Given the description of an element on the screen output the (x, y) to click on. 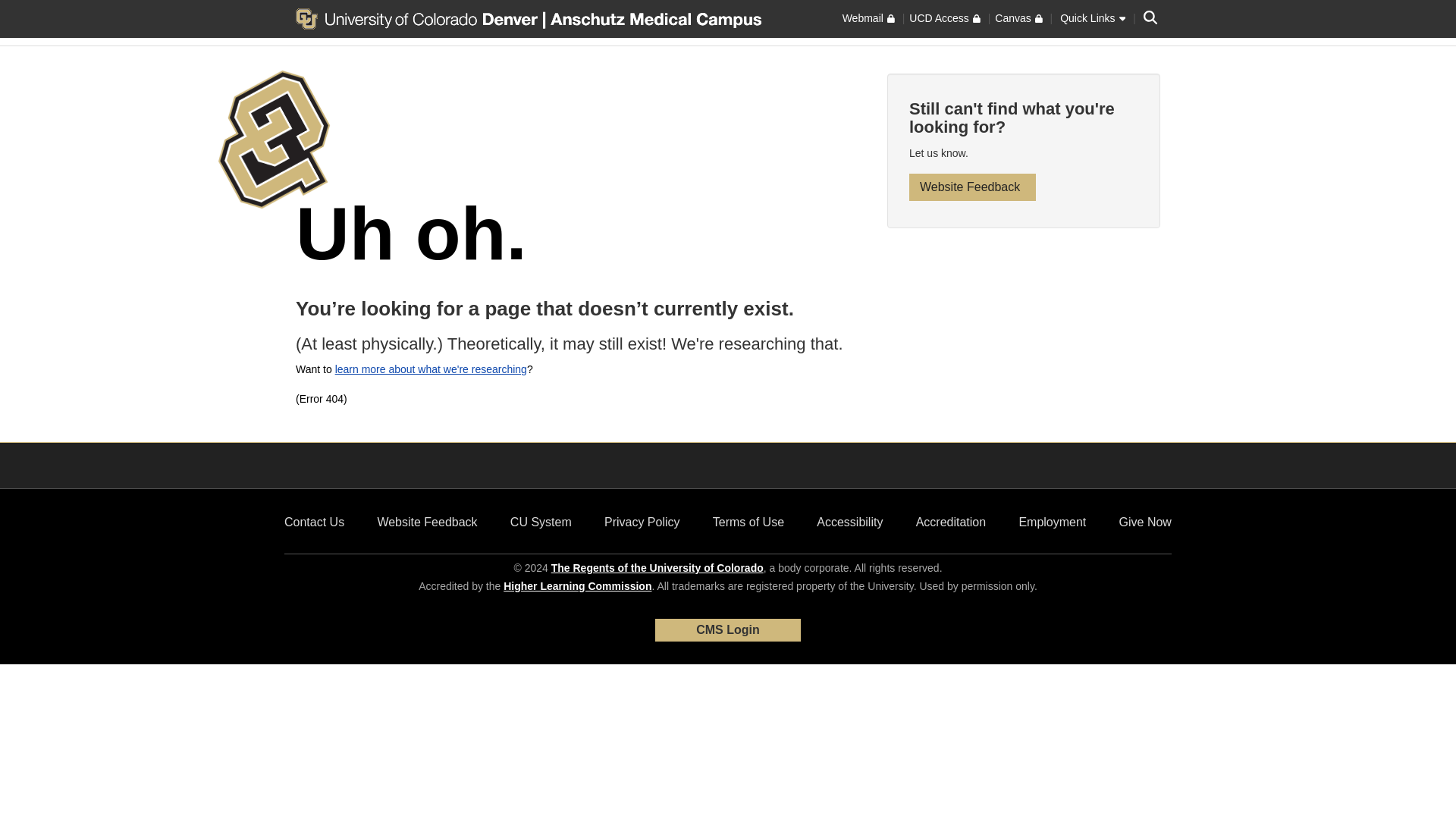
CU System (541, 521)
Webmail (869, 18)
UCD Access (943, 18)
learn more about what we're researching (430, 369)
University of Colorado Denver (419, 17)
Website Feedback (971, 186)
Quick Links (1092, 18)
Contact Us (313, 521)
Canvas (1018, 18)
Website Feedback (427, 521)
University of Colorado Anschutz Medical Campus (652, 17)
